Given the description of an element on the screen output the (x, y) to click on. 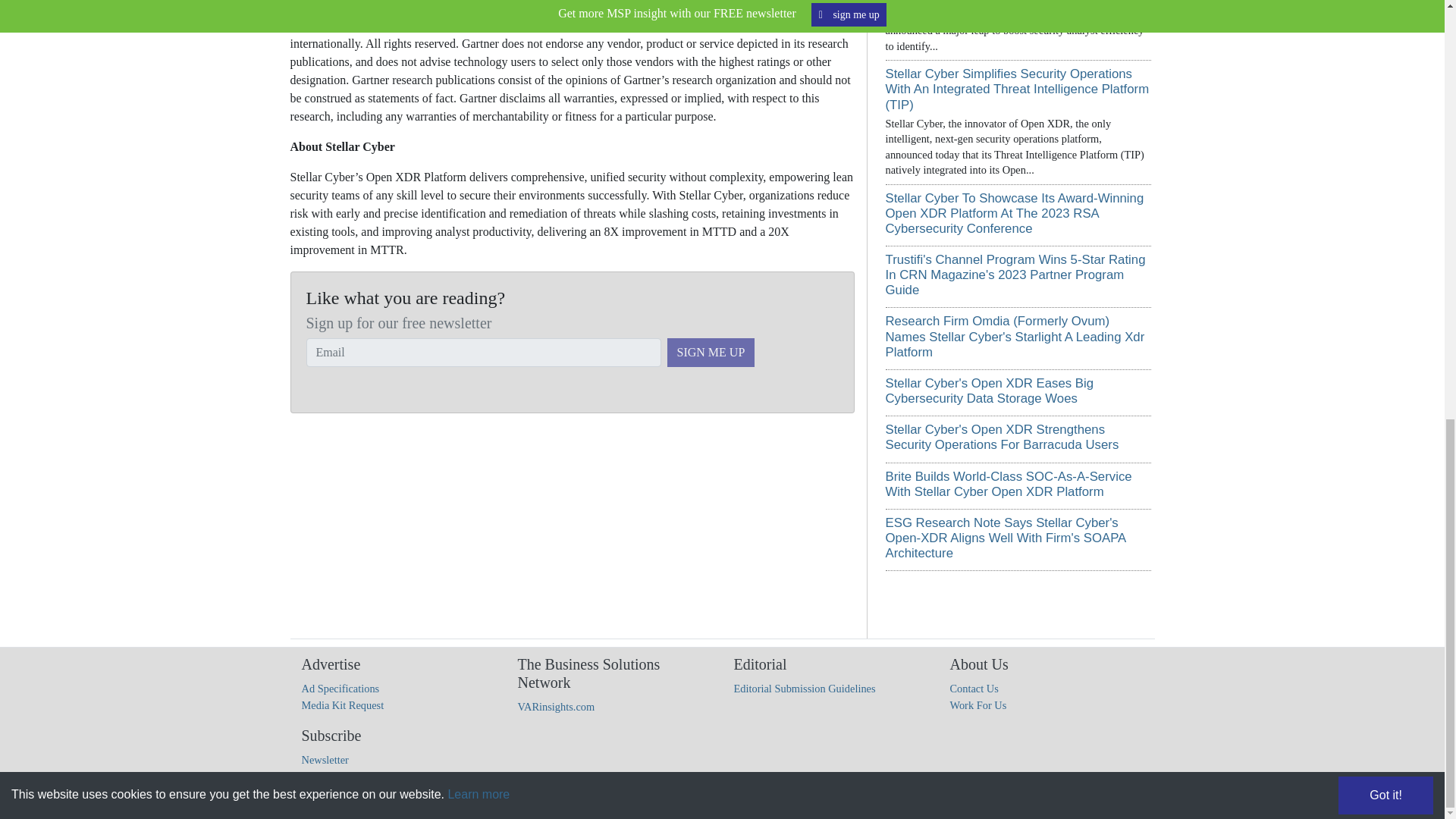
SIGN ME UP (710, 352)
